Given the description of an element on the screen output the (x, y) to click on. 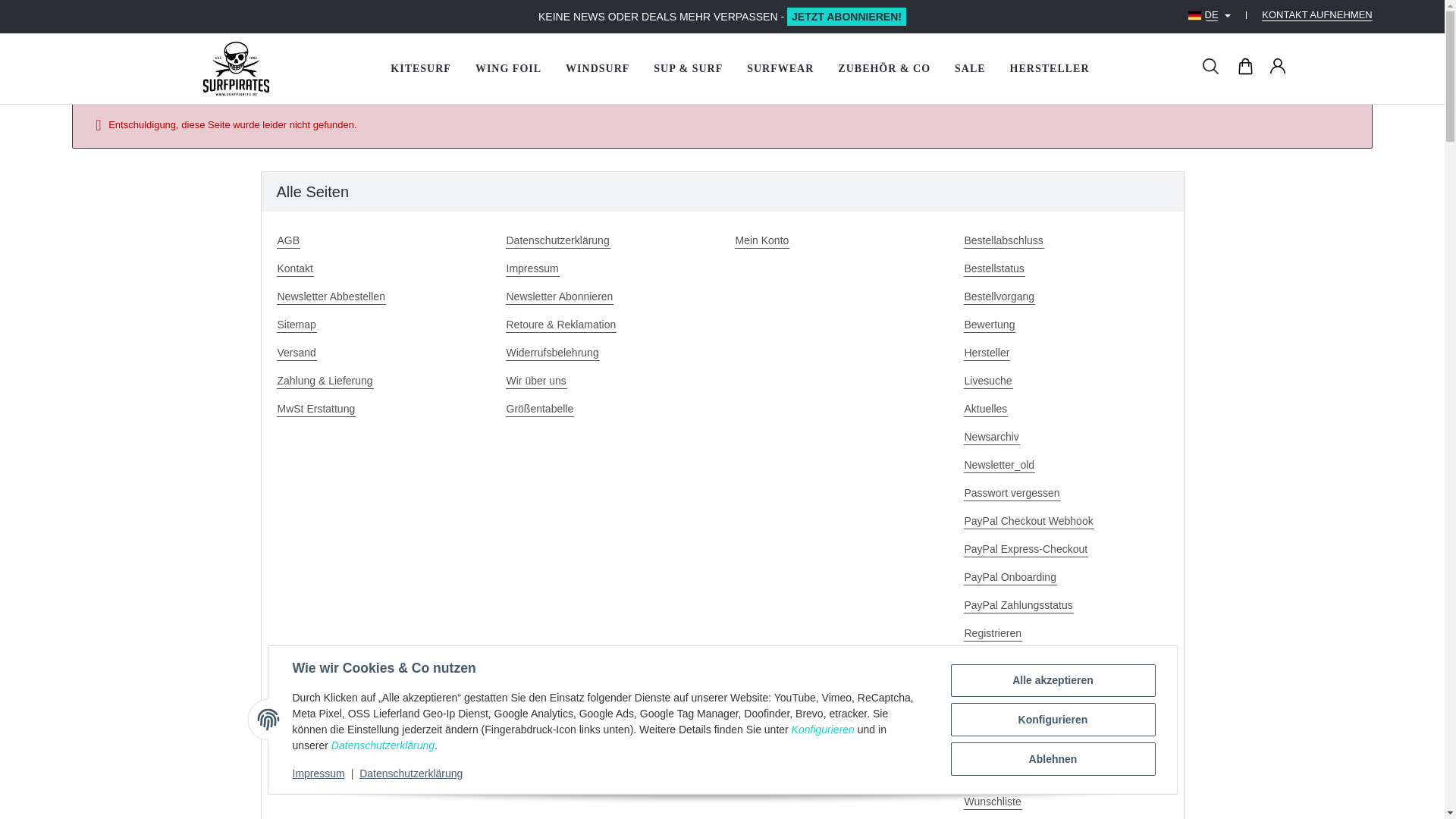
Surfwear (780, 68)
SALE (969, 68)
PayPal Onboarding (1064, 577)
Passwort vergessen (1064, 493)
SUP-Surf (688, 68)
Bewertung (1064, 324)
MwSt Erstattung (378, 408)
WING FOIL (508, 68)
Wunschliste (1064, 801)
Newsarchiv (1064, 437)
KITESURF (420, 68)
AGB (378, 240)
SALE (969, 68)
Windsurf (597, 68)
Versand (378, 352)
